Given the description of an element on the screen output the (x, y) to click on. 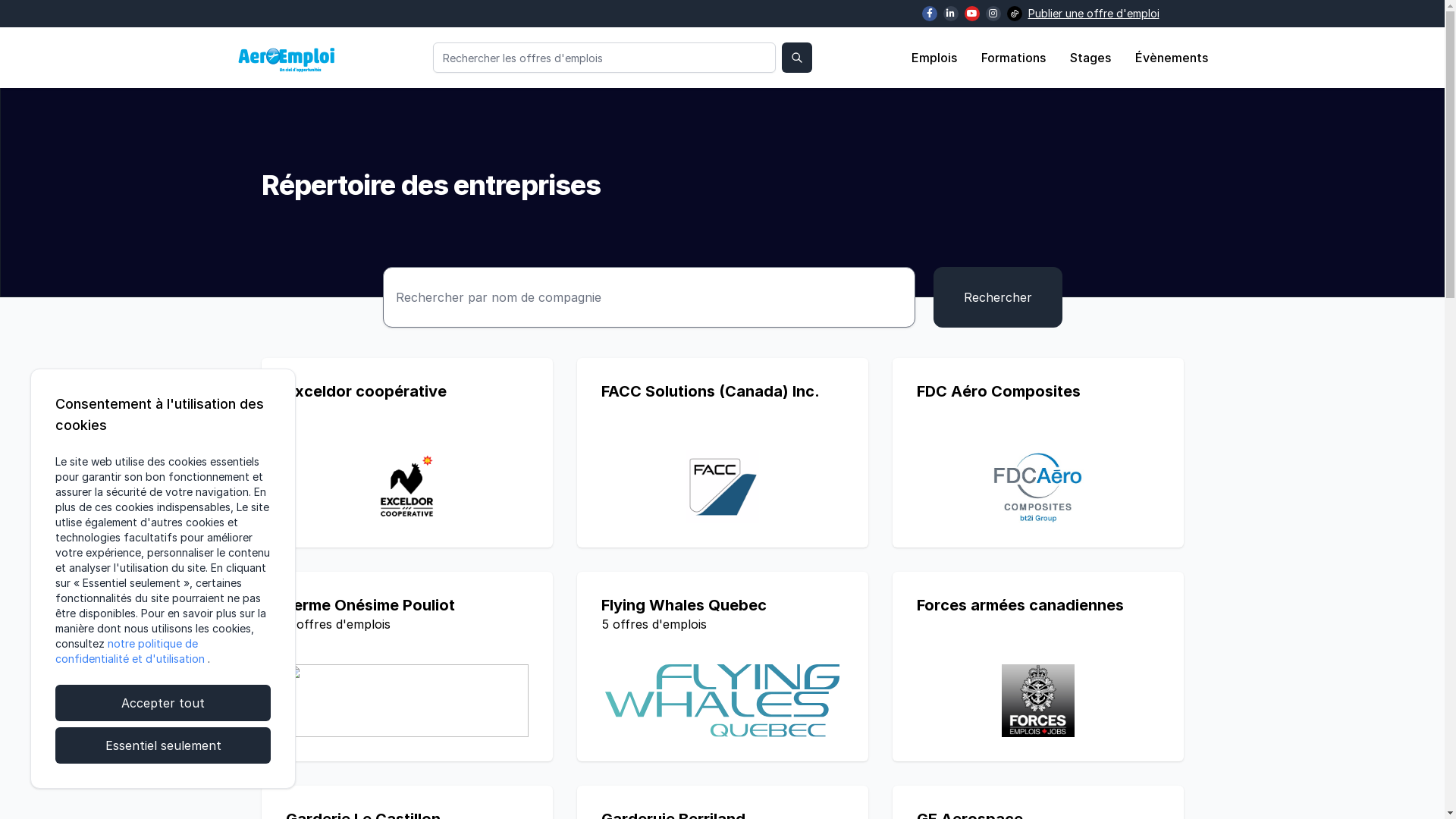
Flying Whales Quebec
5 offres d'emplois Element type: text (721, 666)
Stages Element type: text (1089, 57)
Rechercher Element type: text (996, 296)
Publier une offre d'emploi Element type: text (1093, 13)
Essentiel seulement Element type: text (162, 745)
Accepter tout Element type: text (162, 702)
Emplois Element type: text (934, 57)
Rechercher Element type: text (796, 57)
Formations Element type: text (1013, 57)
FACC Solutions (Canada) Inc. Element type: text (721, 452)
